Given the description of an element on the screen output the (x, y) to click on. 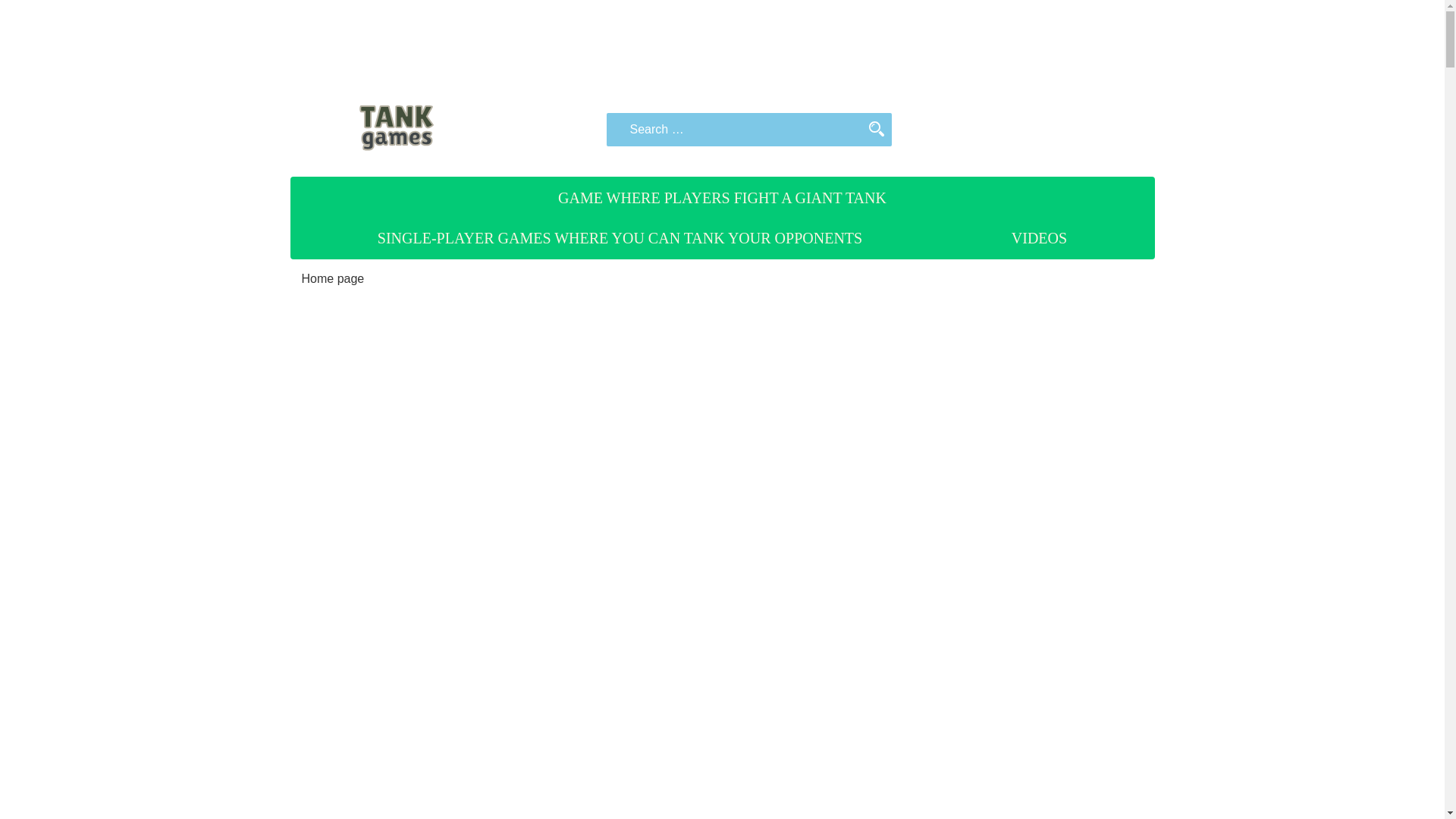
GAME WHERE PLAYERS FIGHT A GIANT TANK (722, 197)
VIDEOS (1039, 237)
SINGLE-PLAYER GAMES WHERE YOU CAN TANK YOUR OPPONENTS (619, 237)
Home page (333, 278)
